Given the description of an element on the screen output the (x, y) to click on. 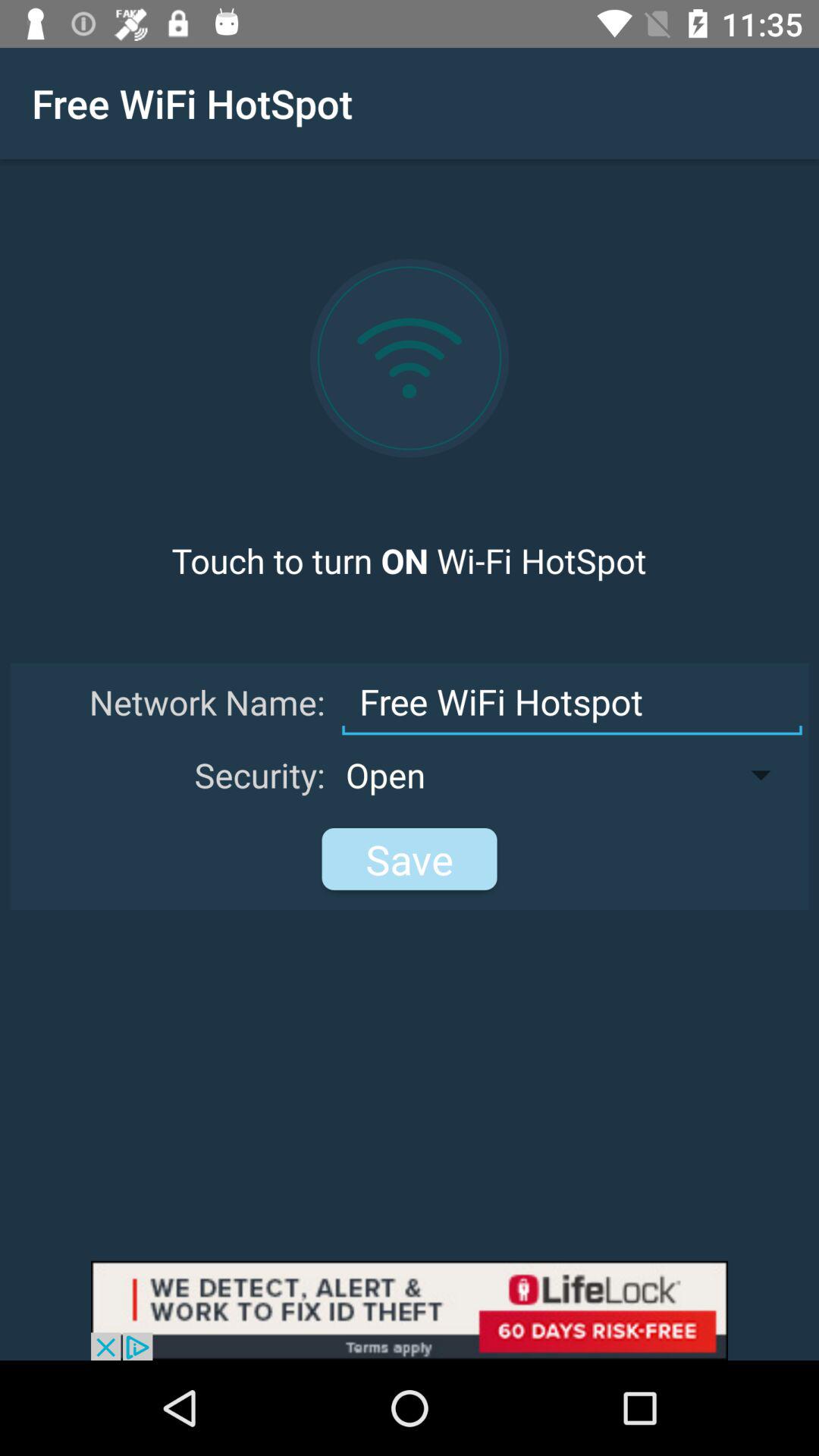
add click box (409, 1310)
